Given the description of an element on the screen output the (x, y) to click on. 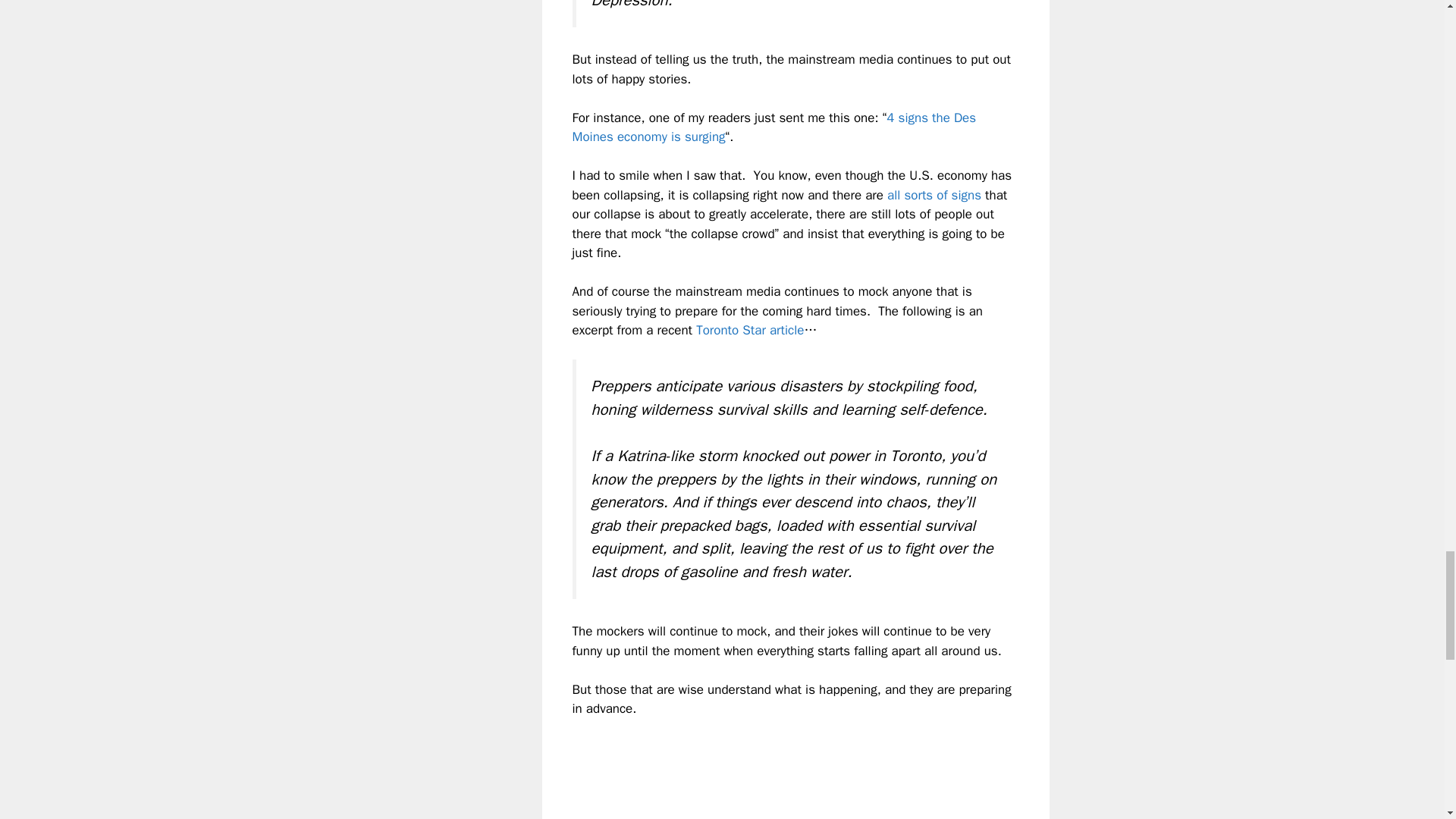
all sorts of signs (933, 195)
4 signs the Des Moines economy is surging (773, 127)
Toronto Star article (749, 330)
